Given the description of an element on the screen output the (x, y) to click on. 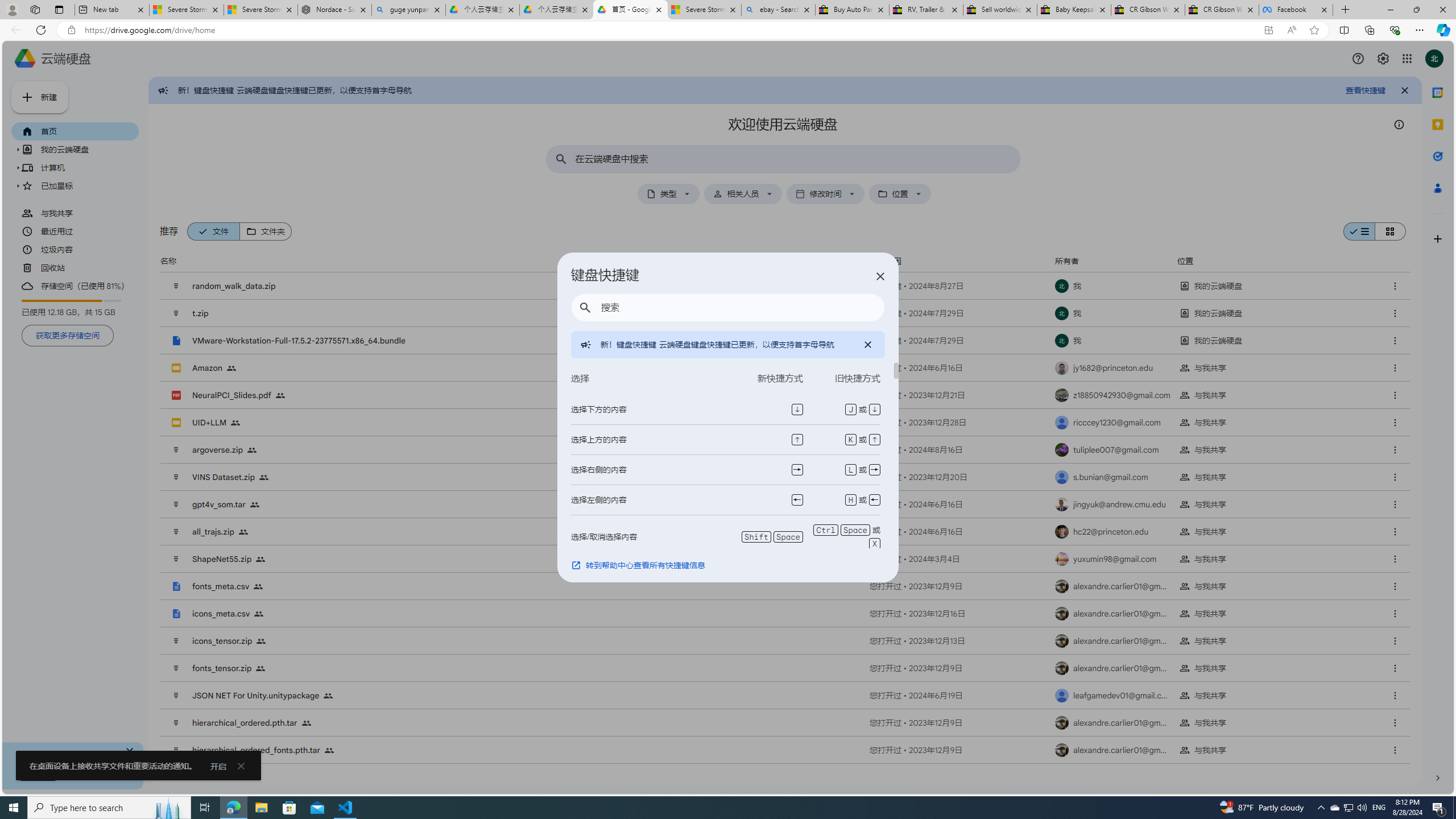
RV, Trailer & Camper Steps & Ladders for sale | eBay (925, 9)
Address and search bar (669, 29)
Sell worldwide with eBay (1000, 9)
Facebook (1295, 9)
App bar (728, 29)
Nordace - Summer Adventures 2024 (334, 9)
